Given the description of an element on the screen output the (x, y) to click on. 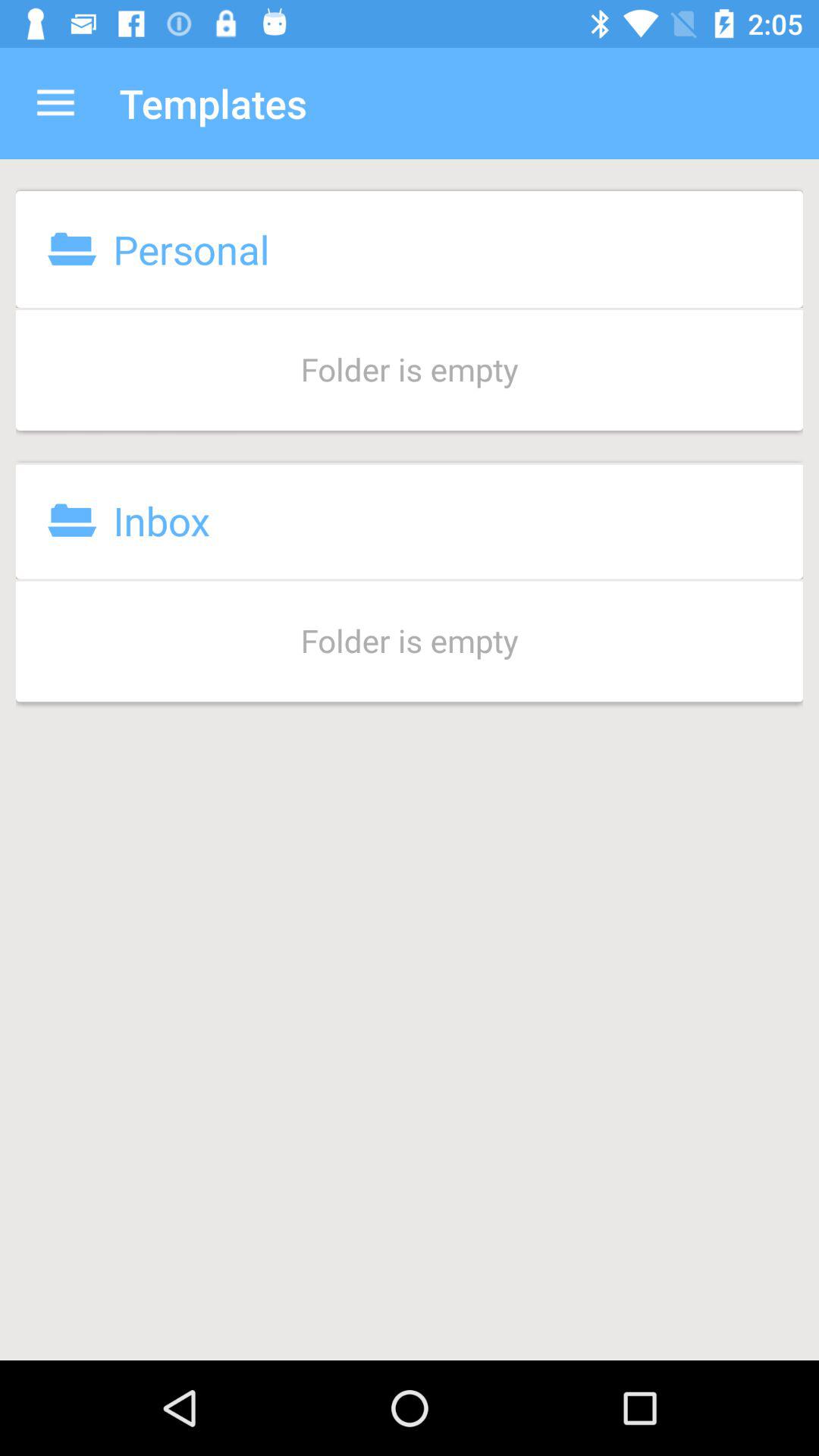
turn off item next to templates item (55, 103)
